Given the description of an element on the screen output the (x, y) to click on. 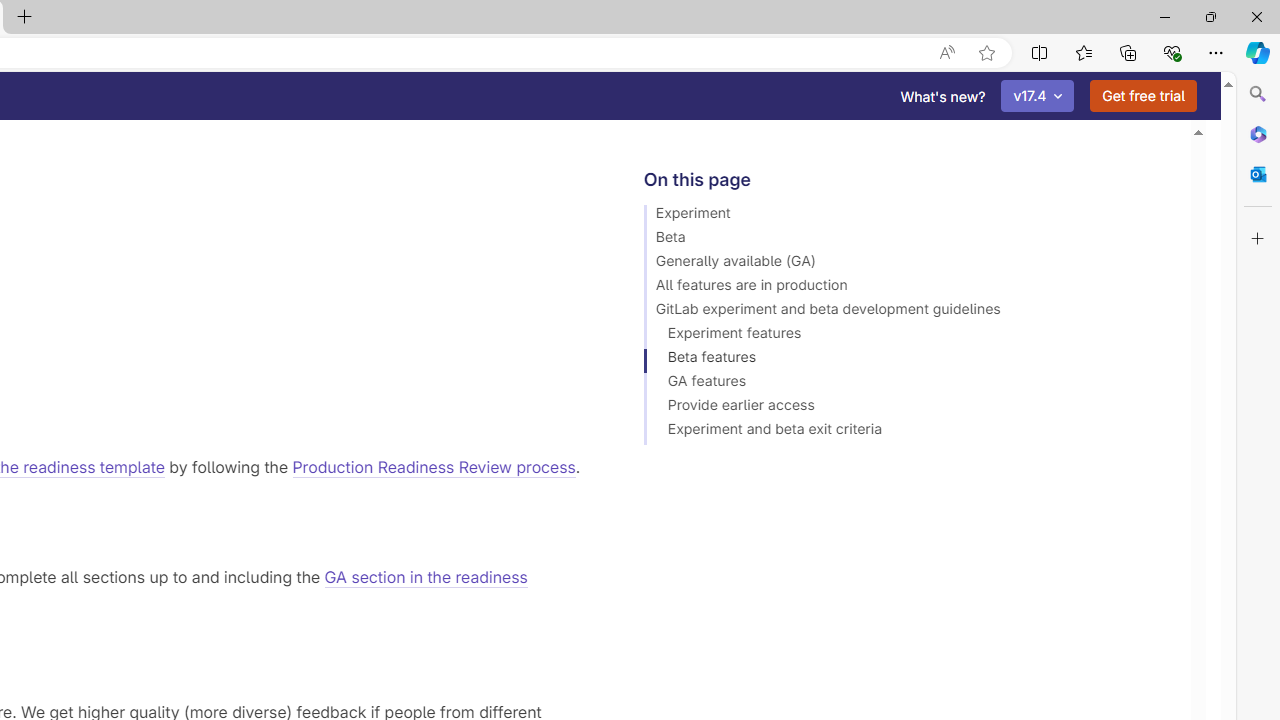
All features are in production (908, 287)
Beta (908, 240)
GA features (908, 384)
GitLab experiment and beta development guidelines (908, 312)
Production Readiness Review process (433, 466)
GitLab experiment and beta development guidelines (908, 312)
What's new? (943, 96)
Generally available (GA) (908, 264)
Generally available (GA) (908, 264)
All features are in production (908, 287)
